Given the description of an element on the screen output the (x, y) to click on. 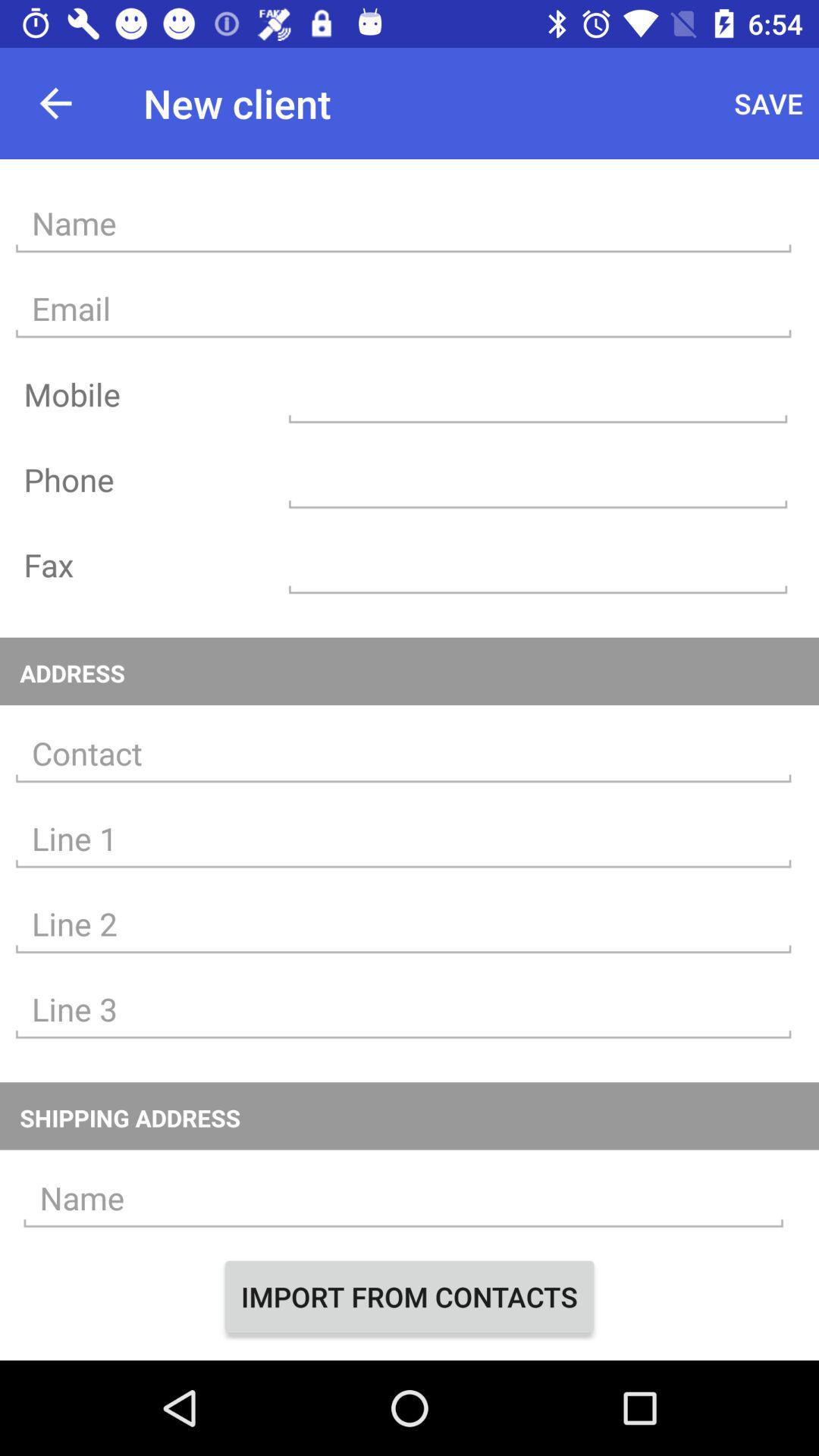
name entry field (403, 223)
